Given the description of an element on the screen output the (x, y) to click on. 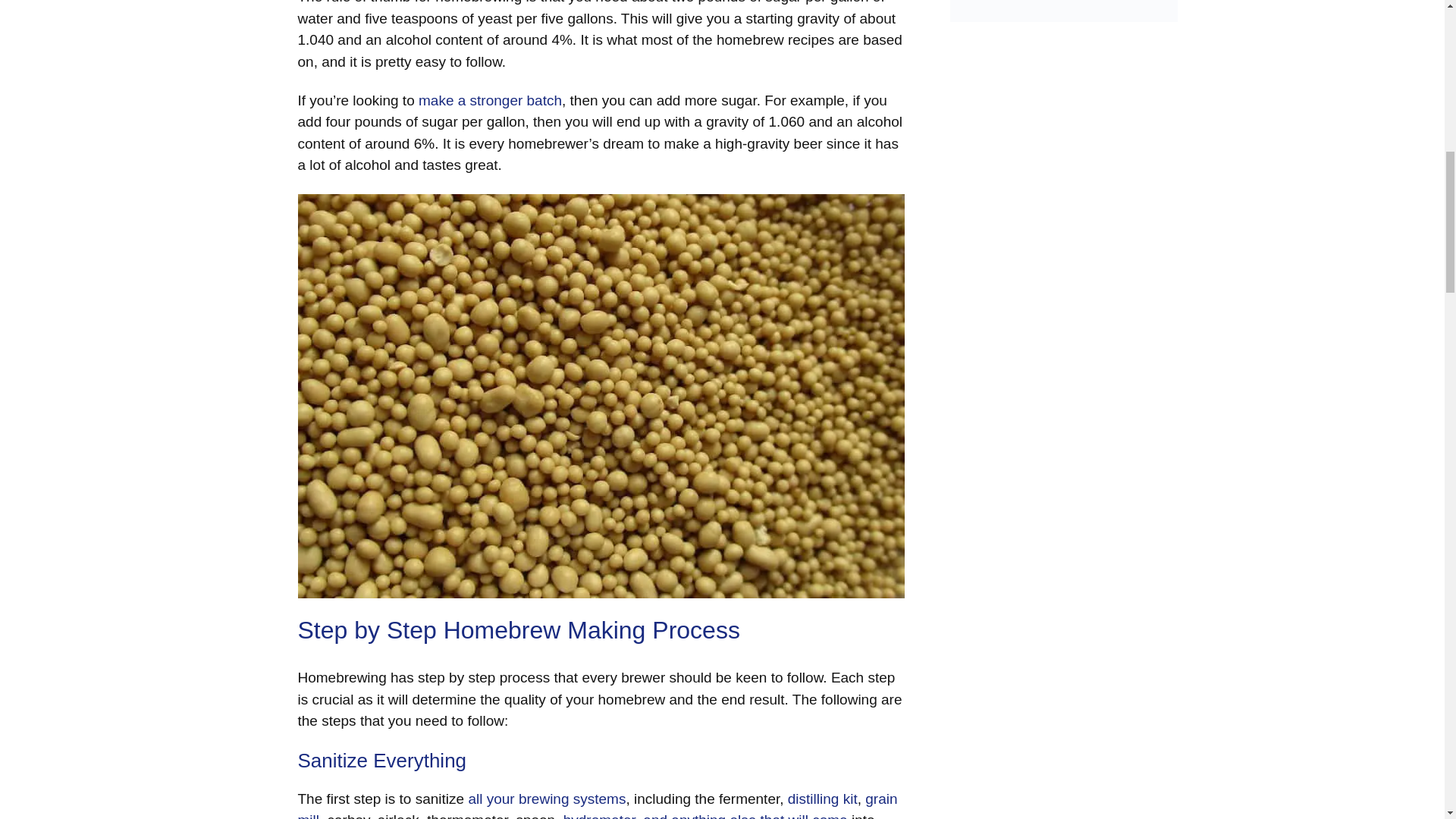
make a stronger batch (490, 100)
all your brewing systems (546, 798)
grain mill (596, 805)
distilling kit (822, 798)
hydrometer, and anything else that will come (705, 815)
